Given the description of an element on the screen output the (x, y) to click on. 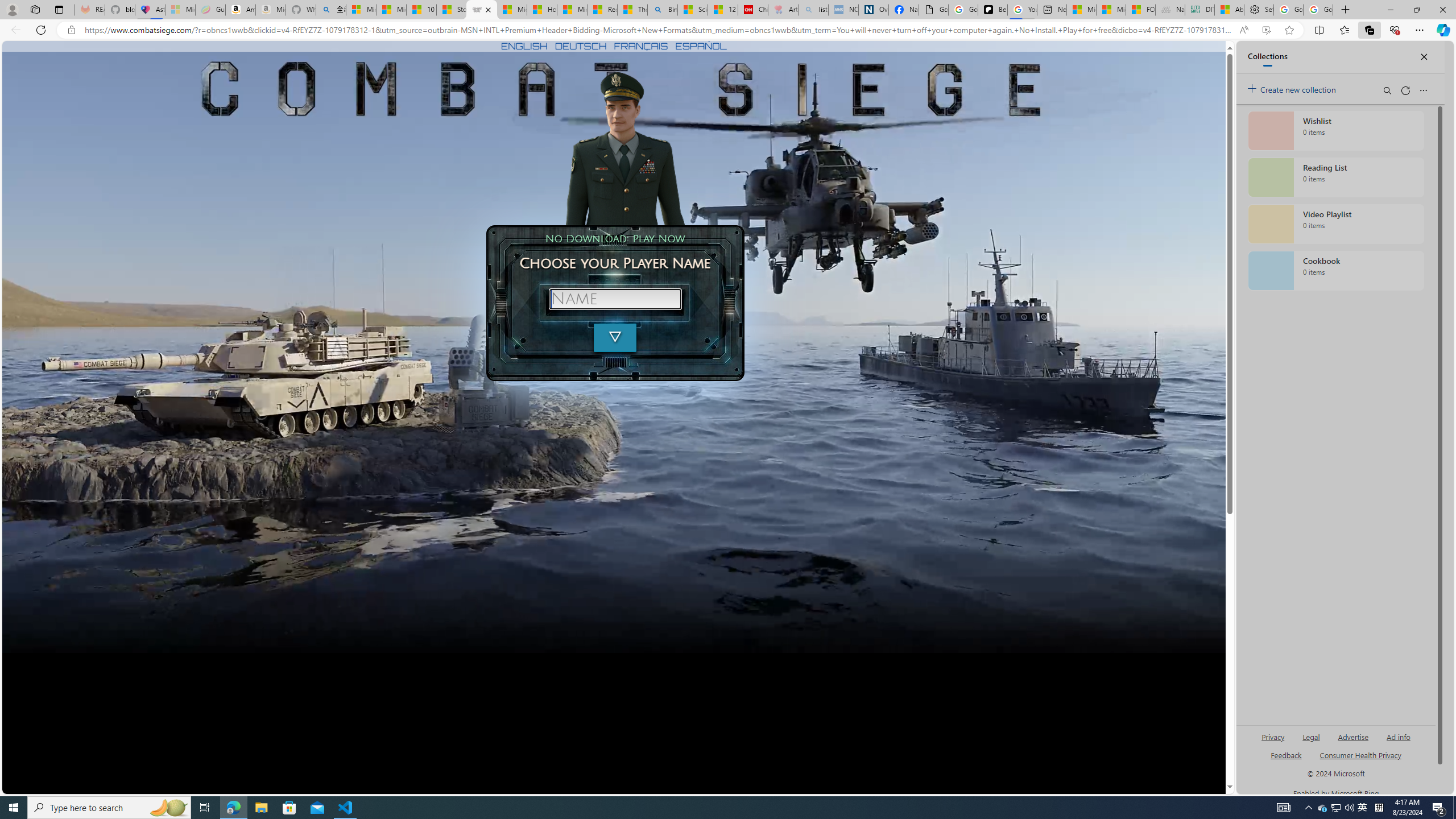
Google Analytics Opt-out Browser Add-on Download Page (933, 9)
FOX News - MSN (1140, 9)
Name (614, 298)
